Given the description of an element on the screen output the (x, y) to click on. 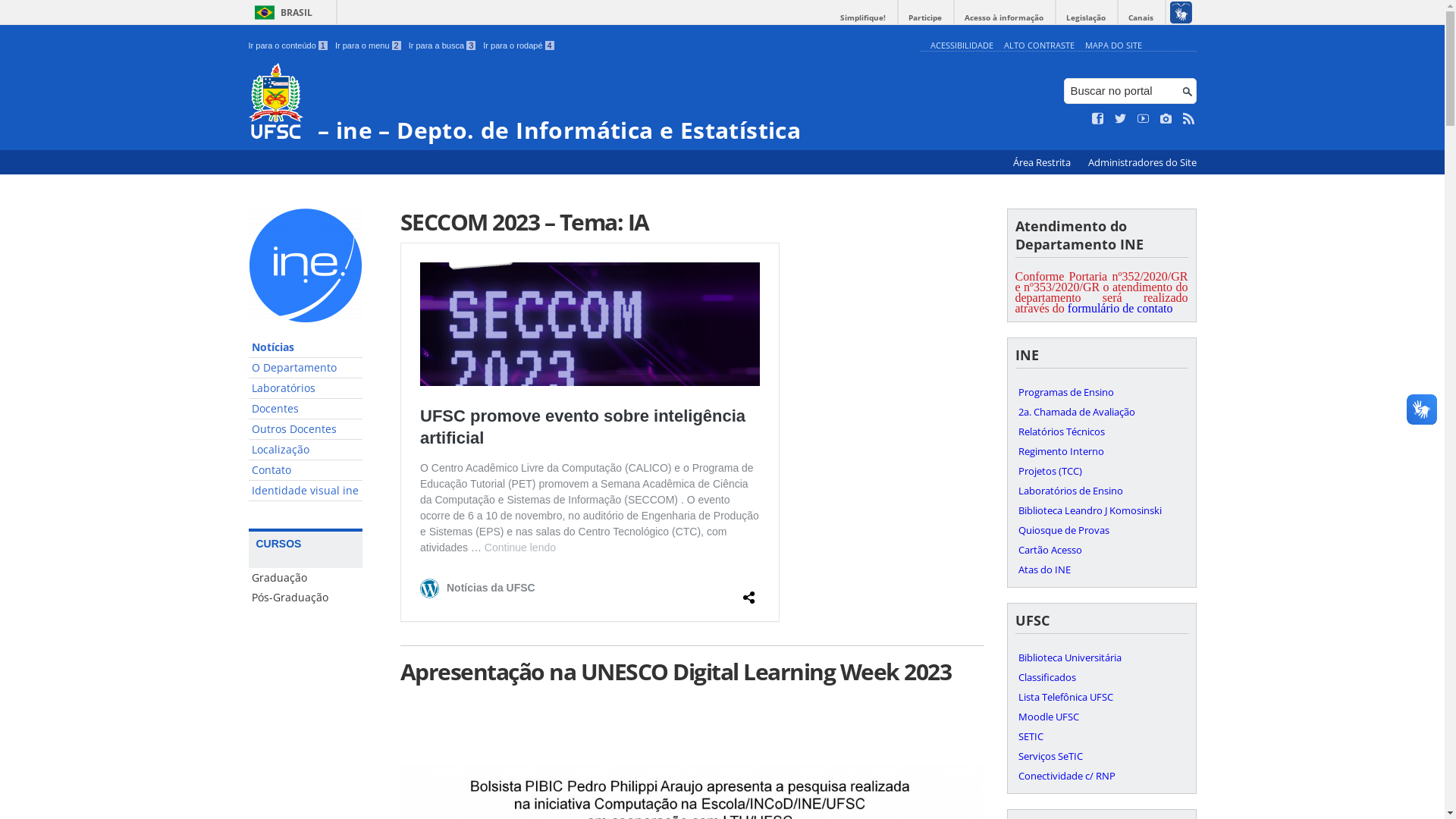
Moodle UFSC Element type: text (1100, 716)
Outros Docentes Element type: text (305, 429)
Simplifique! Element type: text (862, 18)
Docentes Element type: text (305, 408)
Classificados Element type: text (1100, 677)
Siga no Twitter Element type: hover (1120, 118)
Conectividade c/ RNP Element type: text (1100, 775)
Quiosque de Provas Element type: text (1100, 529)
Programas de Ensino Element type: text (1100, 391)
Ir para o menu 2 Element type: text (368, 45)
Ir para a busca 3 Element type: text (442, 45)
Projetos (TCC) Element type: text (1100, 470)
Identidade visual ine Element type: text (305, 490)
Contato Element type: text (305, 470)
BRASIL Element type: text (280, 12)
Atas do INE Element type: text (1100, 569)
Biblioteca Leandro J Komosinski Element type: text (1100, 510)
O Departamento Element type: text (305, 367)
SETIC Element type: text (1100, 736)
Participe Element type: text (924, 18)
Veja no Instagram Element type: hover (1166, 118)
ALTO CONTRASTE Element type: text (1039, 44)
Administradores do Site Element type: text (1141, 162)
Regimento Interno Element type: text (1100, 451)
MAPA DO SITE Element type: text (1112, 44)
Curta no Facebook Element type: hover (1098, 118)
Canais Element type: text (1140, 18)
ACESSIBILIDADE Element type: text (960, 44)
